Given the description of an element on the screen output the (x, y) to click on. 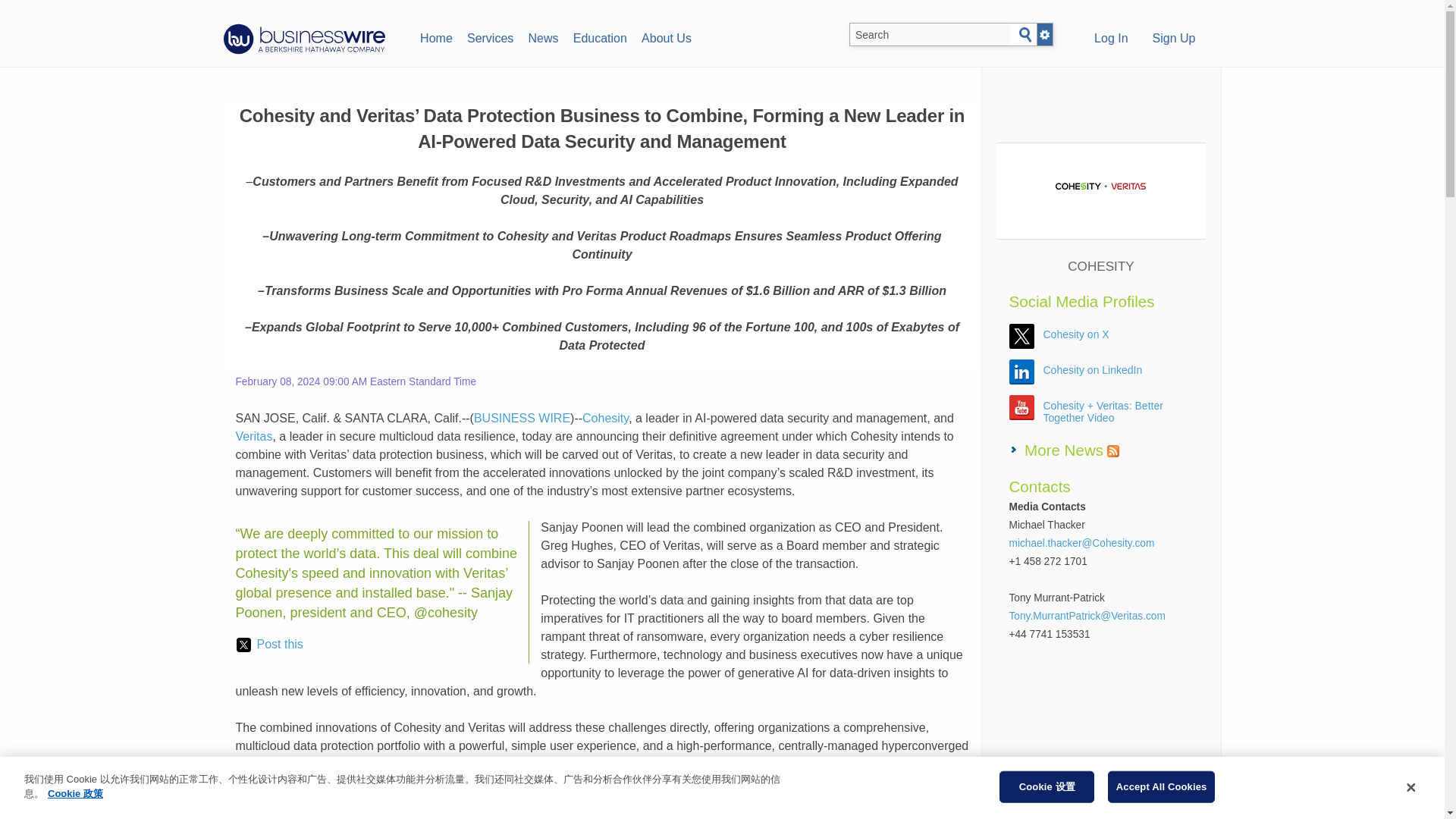
Post this (269, 644)
Education (599, 36)
Services (490, 36)
Search (1025, 34)
News (543, 36)
Veritas (253, 436)
Cohesity (605, 418)
Home (436, 36)
Search BusinessWire.com (930, 34)
BUSINESS WIRE (522, 418)
